Given the description of an element on the screen output the (x, y) to click on. 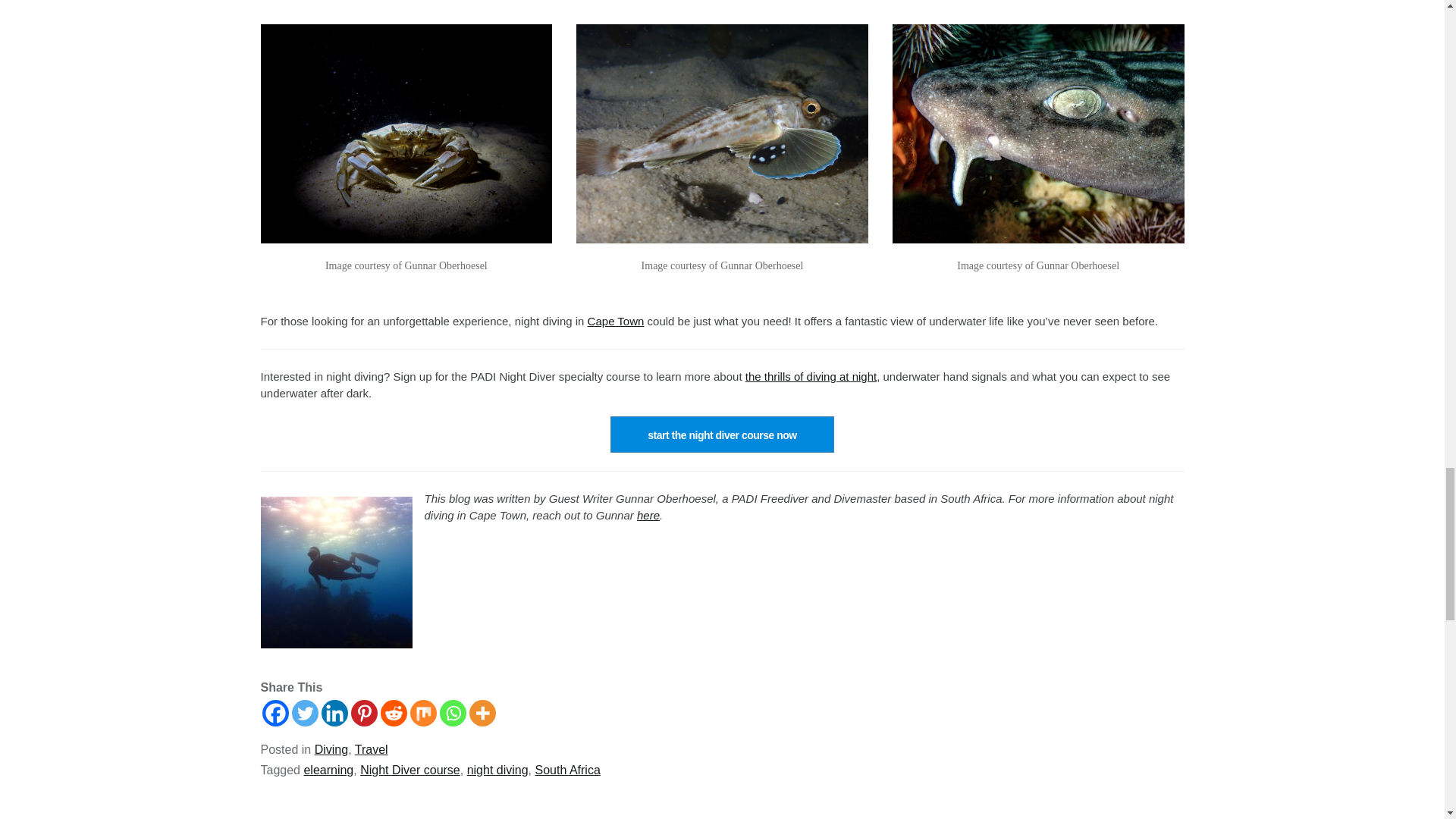
Twitter (304, 713)
Facebook (275, 713)
Linkedin (334, 713)
Mix (422, 713)
Whatsapp (452, 713)
Reddit (393, 713)
Pinterest (363, 713)
